Given the description of an element on the screen output the (x, y) to click on. 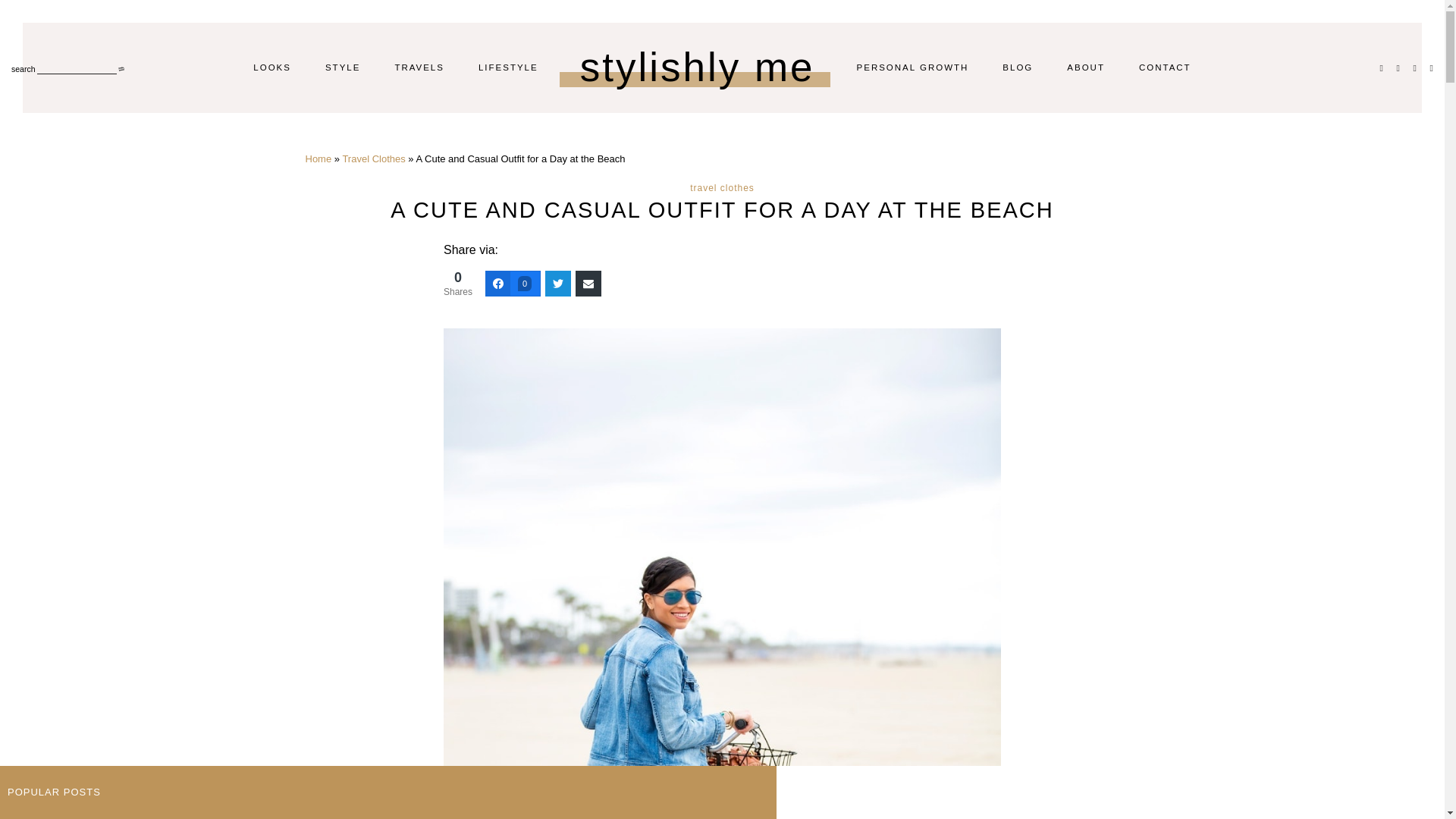
STYLE (341, 67)
travel clothes (722, 187)
TRAVELS (419, 67)
LOOKS (272, 67)
BLOG (1017, 67)
Travel Clothes (373, 158)
LIFESTYLE (508, 67)
stylishly me (697, 66)
CONTACT (1164, 67)
0 (512, 283)
ABOUT (1086, 67)
PERSONAL GROWTH (913, 67)
Home (317, 158)
